Given the description of an element on the screen output the (x, y) to click on. 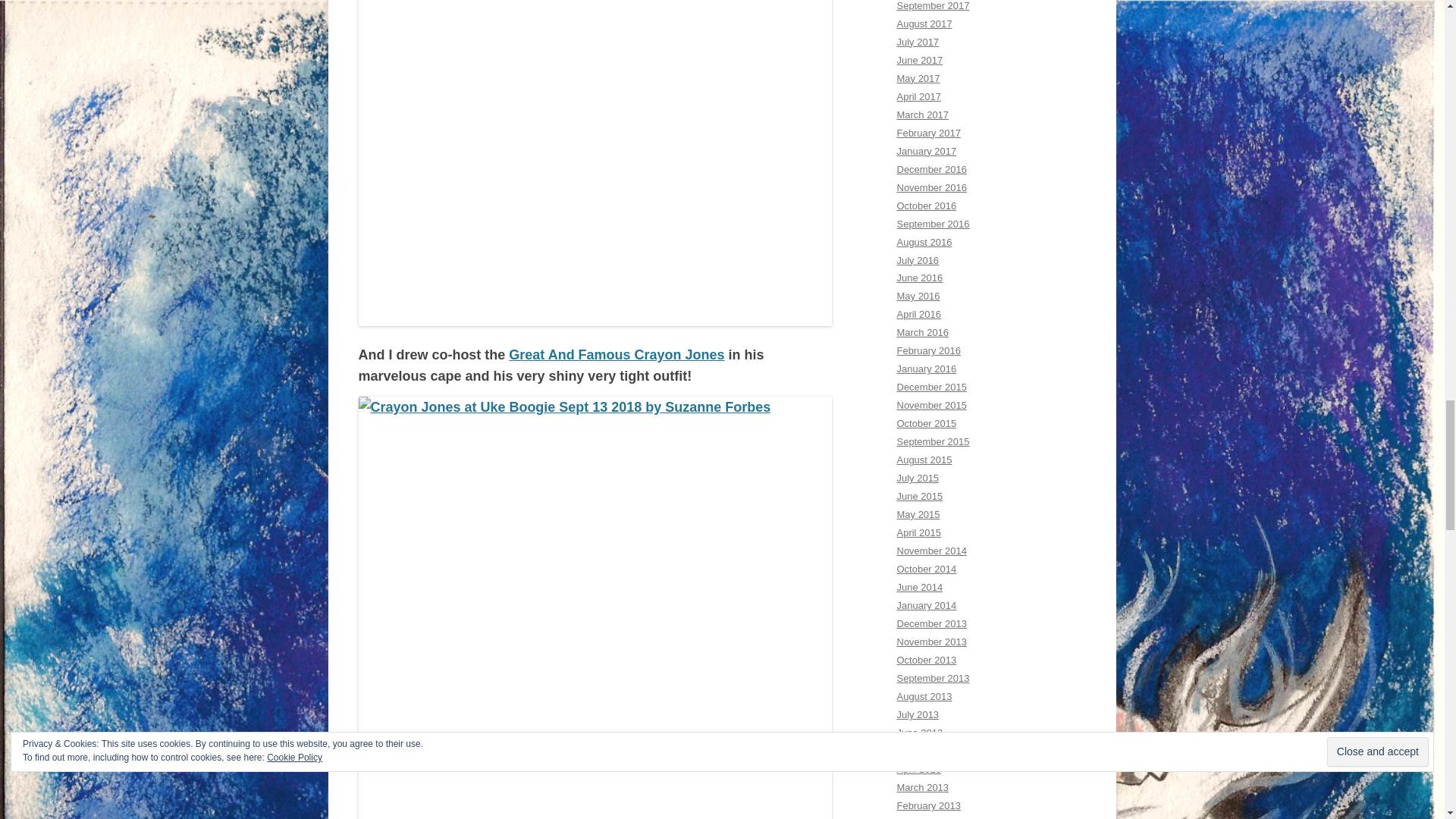
Great And Famous Crayon Jones (615, 354)
